Given the description of an element on the screen output the (x, y) to click on. 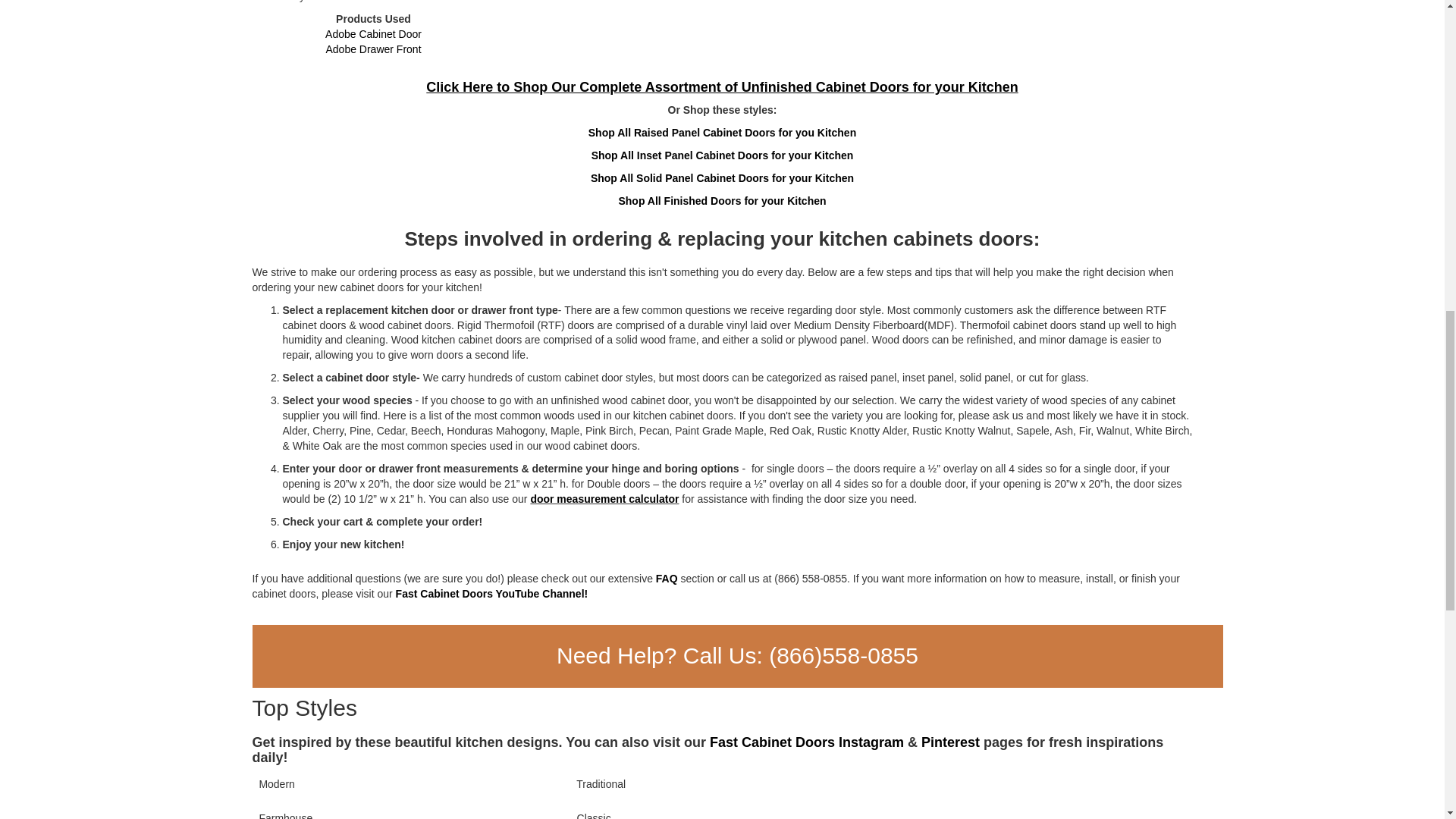
FAQ (667, 578)
Shop Solid Panel Doors (722, 177)
Fast Cabinet Doors Instagram Page (807, 742)
Shop Raised Panel Doors (722, 132)
Fast Cabinet Doors Pinterest Page (950, 742)
Shop All Finished Cabinet Doors (721, 200)
Shop Inset Panel Doors (722, 155)
Shop All Cabinet Doors (721, 87)
